Given the description of an element on the screen output the (x, y) to click on. 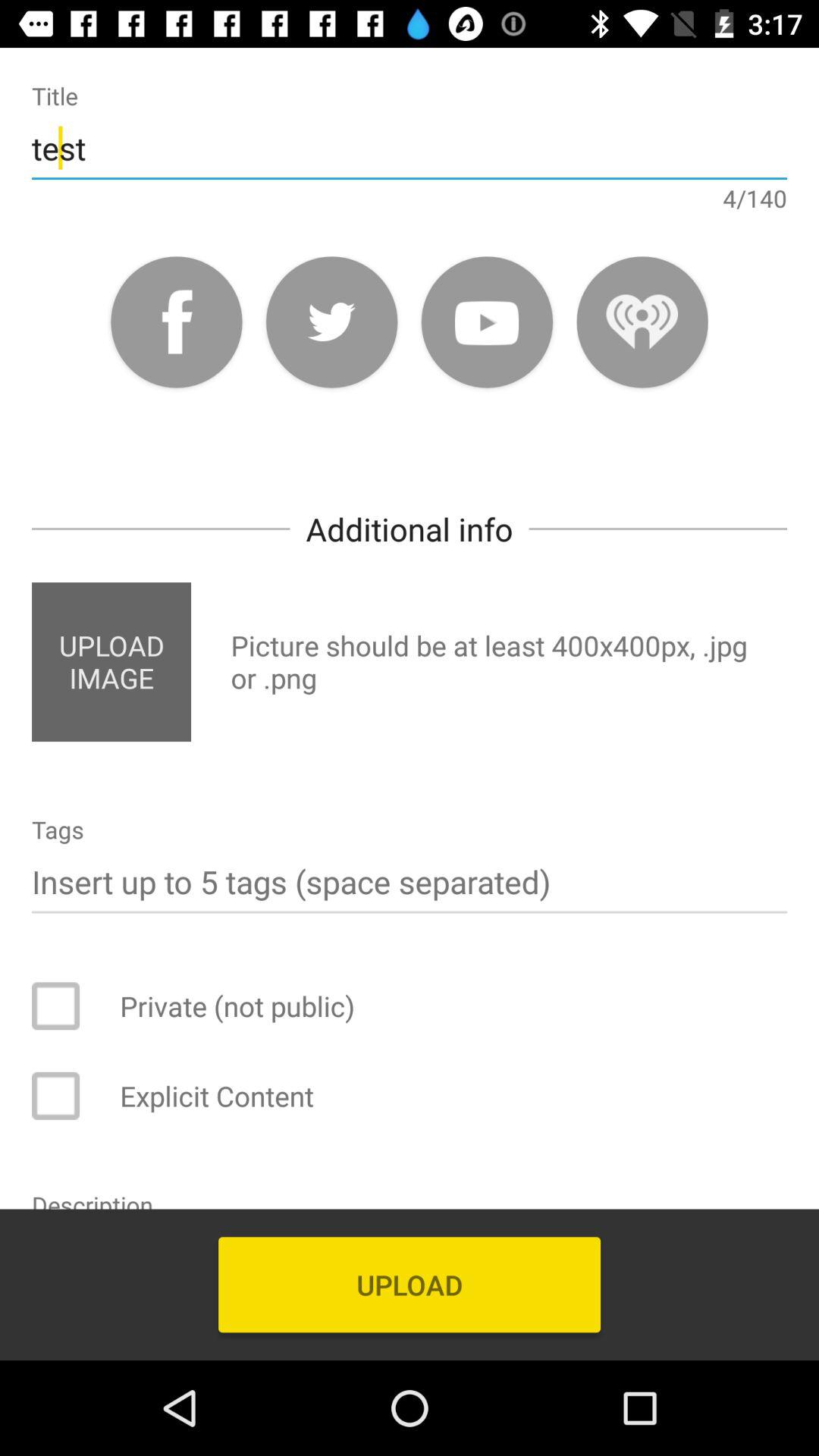
post to twitter (331, 321)
